Given the description of an element on the screen output the (x, y) to click on. 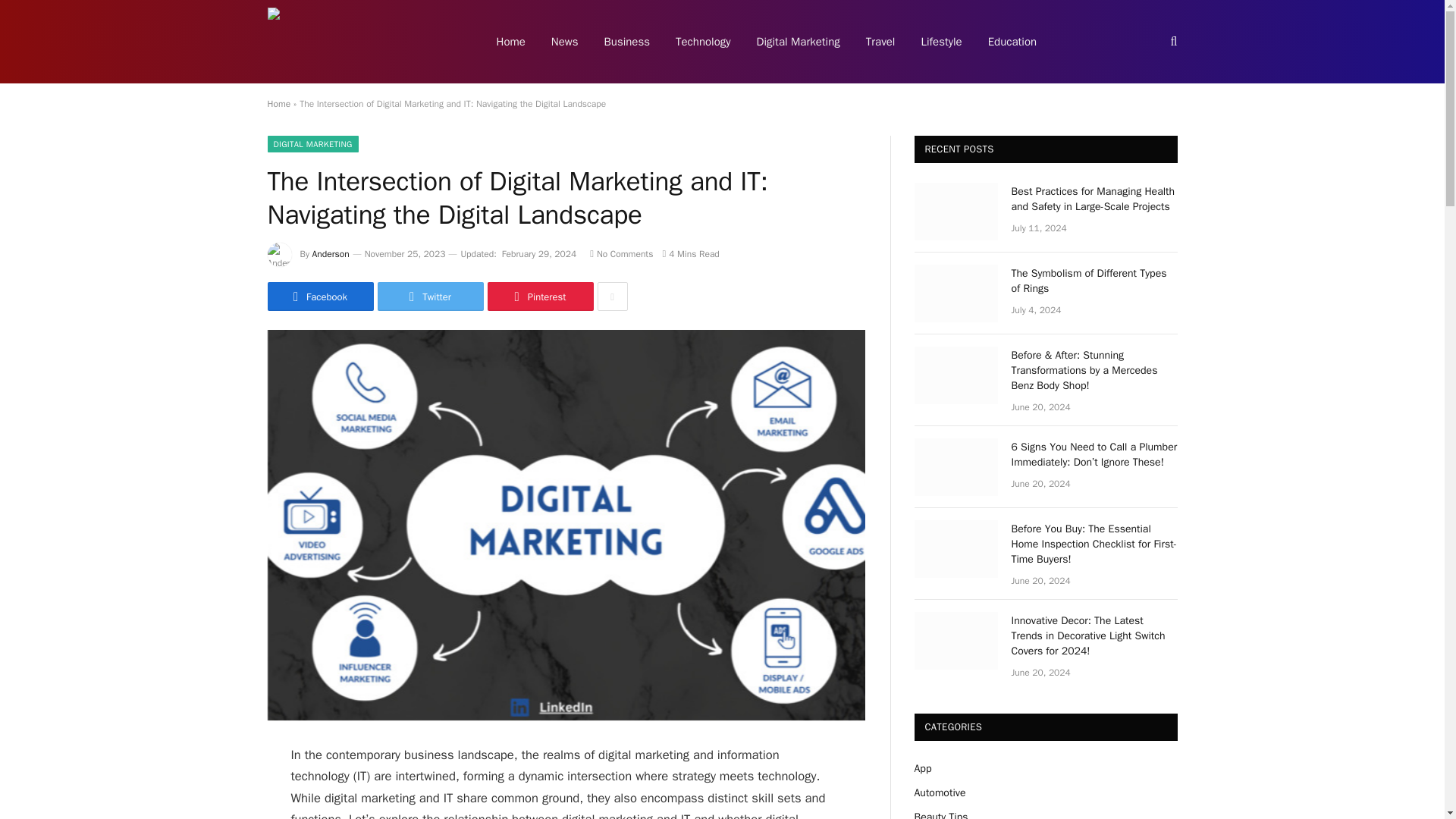
Share on Facebook (319, 296)
Show More Social Sharing (611, 296)
DIGITAL MARKETING (312, 143)
Posts by Anderson (331, 254)
Twitter (430, 296)
Home (277, 103)
Anderson (331, 254)
Facebook (319, 296)
Pinterest (539, 296)
To Know It All: Latest Updates, News (361, 41)
Digital Marketing (798, 41)
Education (1012, 41)
Share on Pinterest (539, 296)
Technology (703, 41)
